Given the description of an element on the screen output the (x, y) to click on. 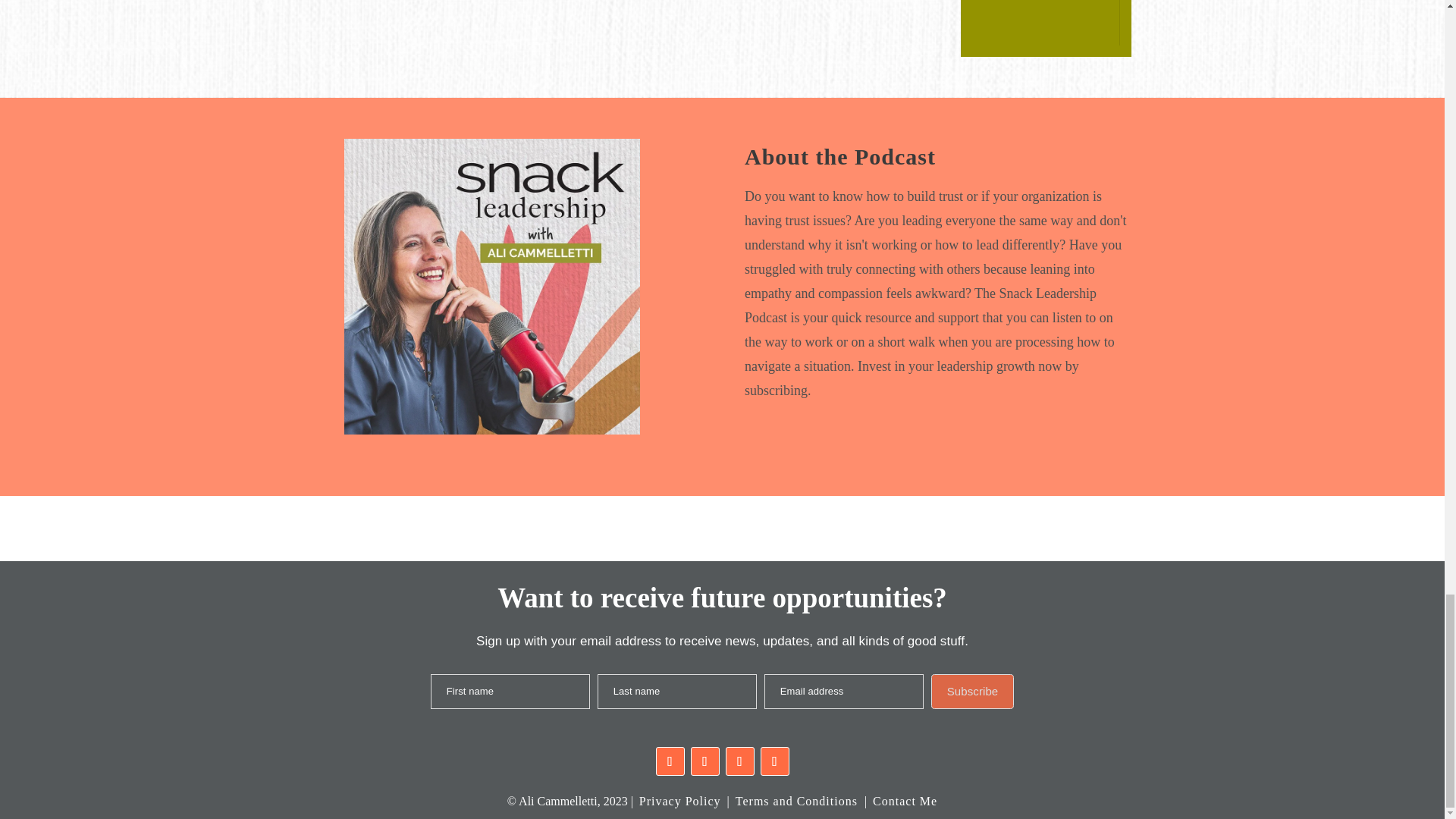
Follow on Youtube (774, 760)
Follow on LinkedIn (739, 760)
Follow on Facebook (669, 760)
Follow on Instagram (704, 760)
